Given the description of an element on the screen output the (x, y) to click on. 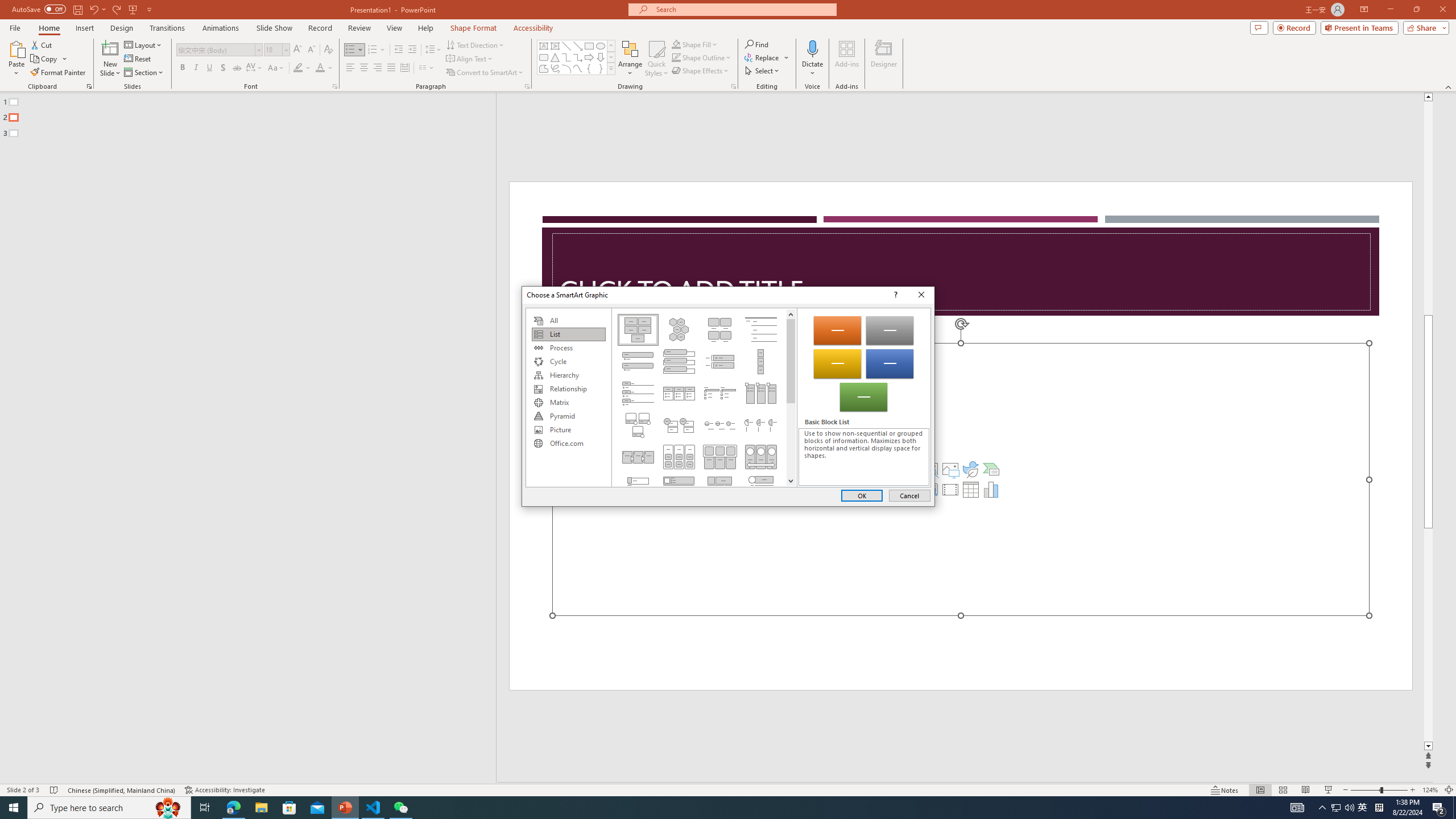
Vertical Picture List (678, 489)
Customize Quick Access Toolbar (149, 9)
Comments (1259, 27)
Bullets (349, 49)
Outline (252, 114)
Copy (49, 58)
Microsoft Store (289, 807)
Increase Font Size (297, 49)
WeChat - 1 running window (400, 807)
Tray Input Indicator - Chinese (Simplified, China) (1378, 807)
Visual Studio Code - 1 running window (373, 807)
Zoom In (1412, 790)
AutomationID: ShapesInsertGallery (576, 57)
Graphic Layouts (703, 397)
